Given the description of an element on the screen output the (x, y) to click on. 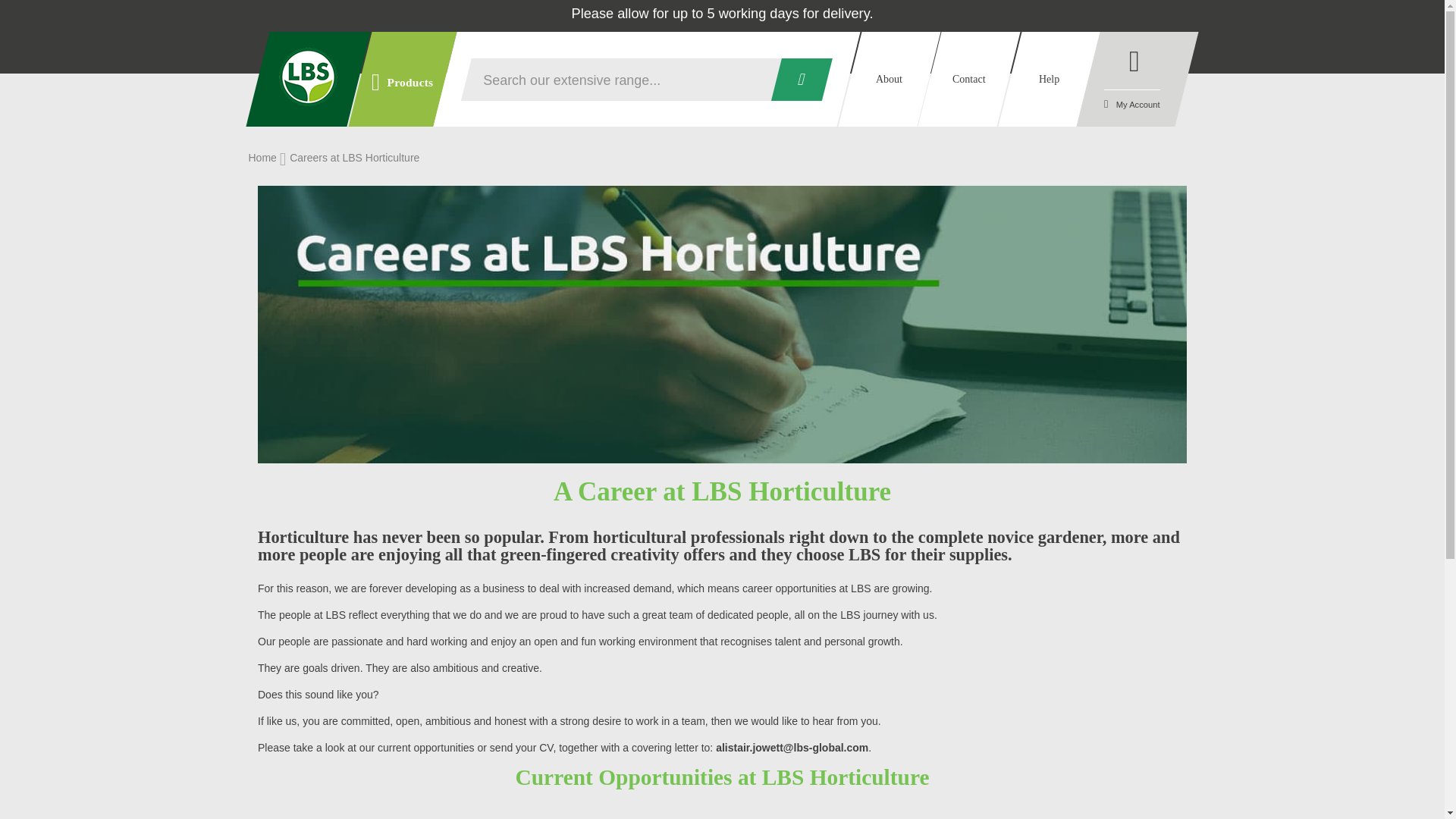
LBS Horticulture (308, 76)
Search (796, 78)
Go to Home Page (263, 157)
